Given the description of an element on the screen output the (x, y) to click on. 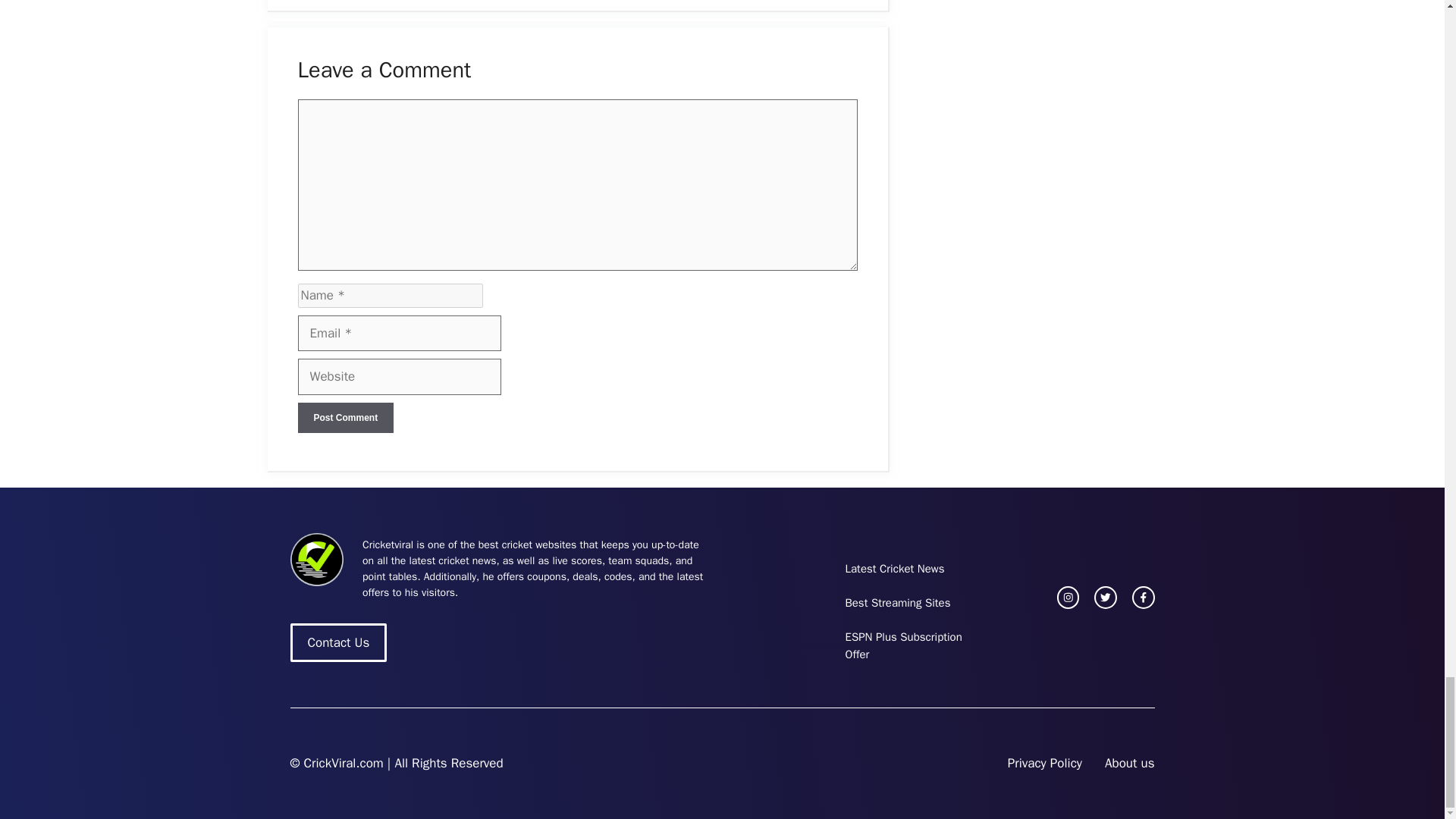
Post Comment (345, 417)
